Given the description of an element on the screen output the (x, y) to click on. 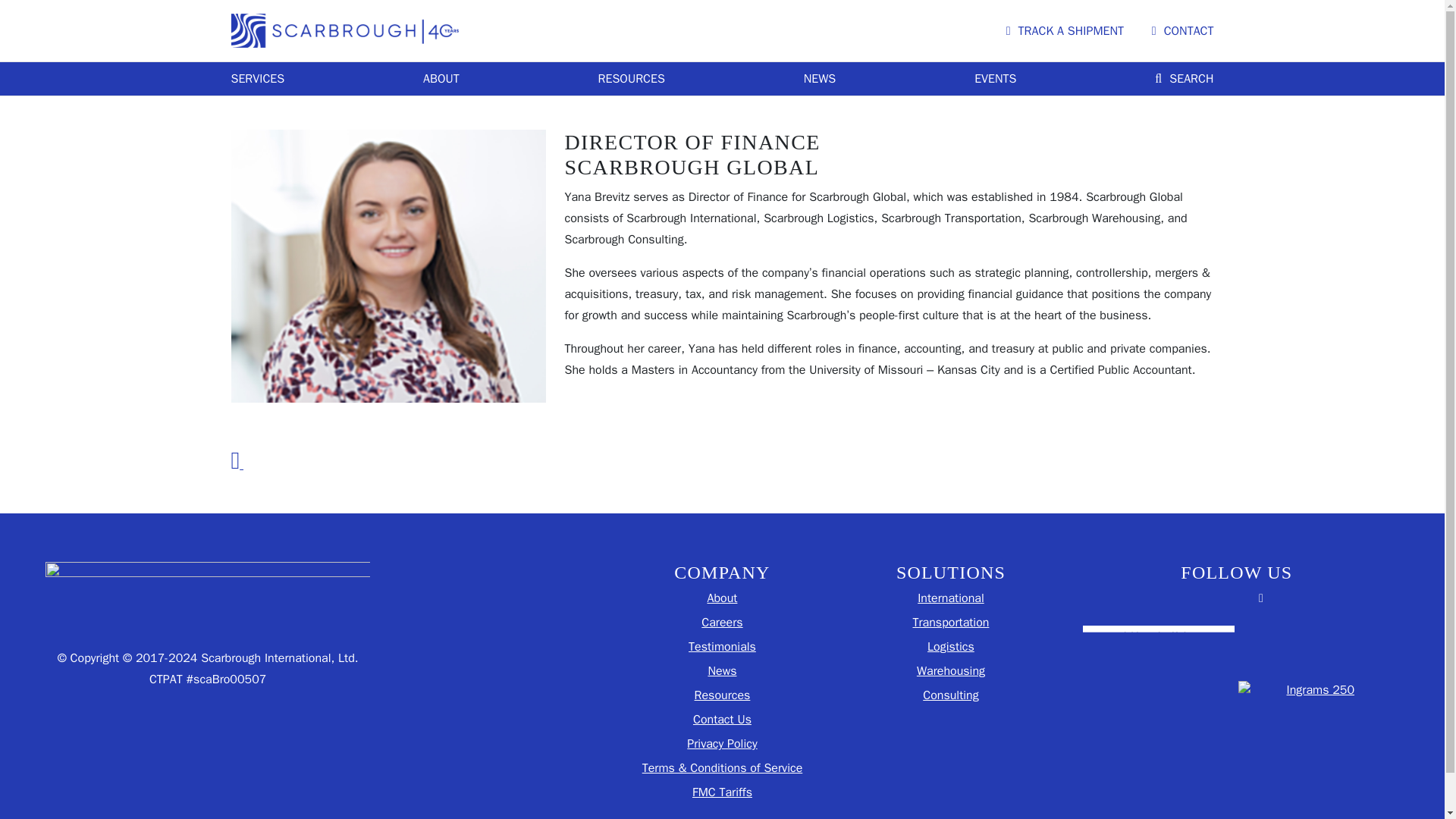
RESOURCES (631, 78)
SERVICES (256, 78)
ABOUT (441, 78)
EVENTS (995, 78)
SEARCH (1183, 78)
Scarbrough Global (344, 29)
CONTACT (1182, 30)
TRACK A SHIPMENT (1065, 30)
NEWS (819, 78)
